Given the description of an element on the screen output the (x, y) to click on. 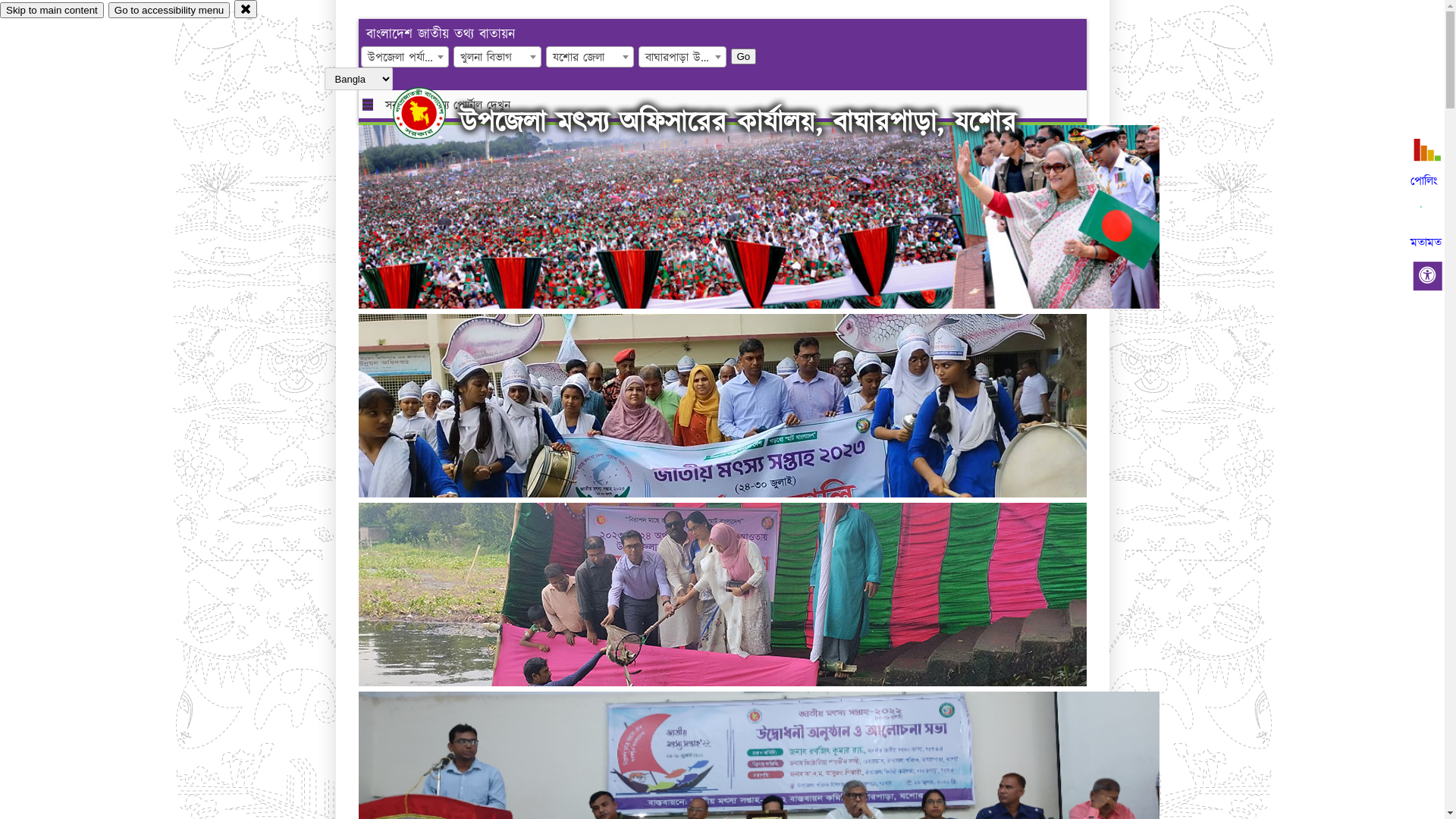
Go to accessibility menu Element type: text (168, 10)
Go Element type: text (743, 56)
close Element type: hover (245, 9)
Skip to main content Element type: text (51, 10)

                
             Element type: hover (431, 112)
